Given the description of an element on the screen output the (x, y) to click on. 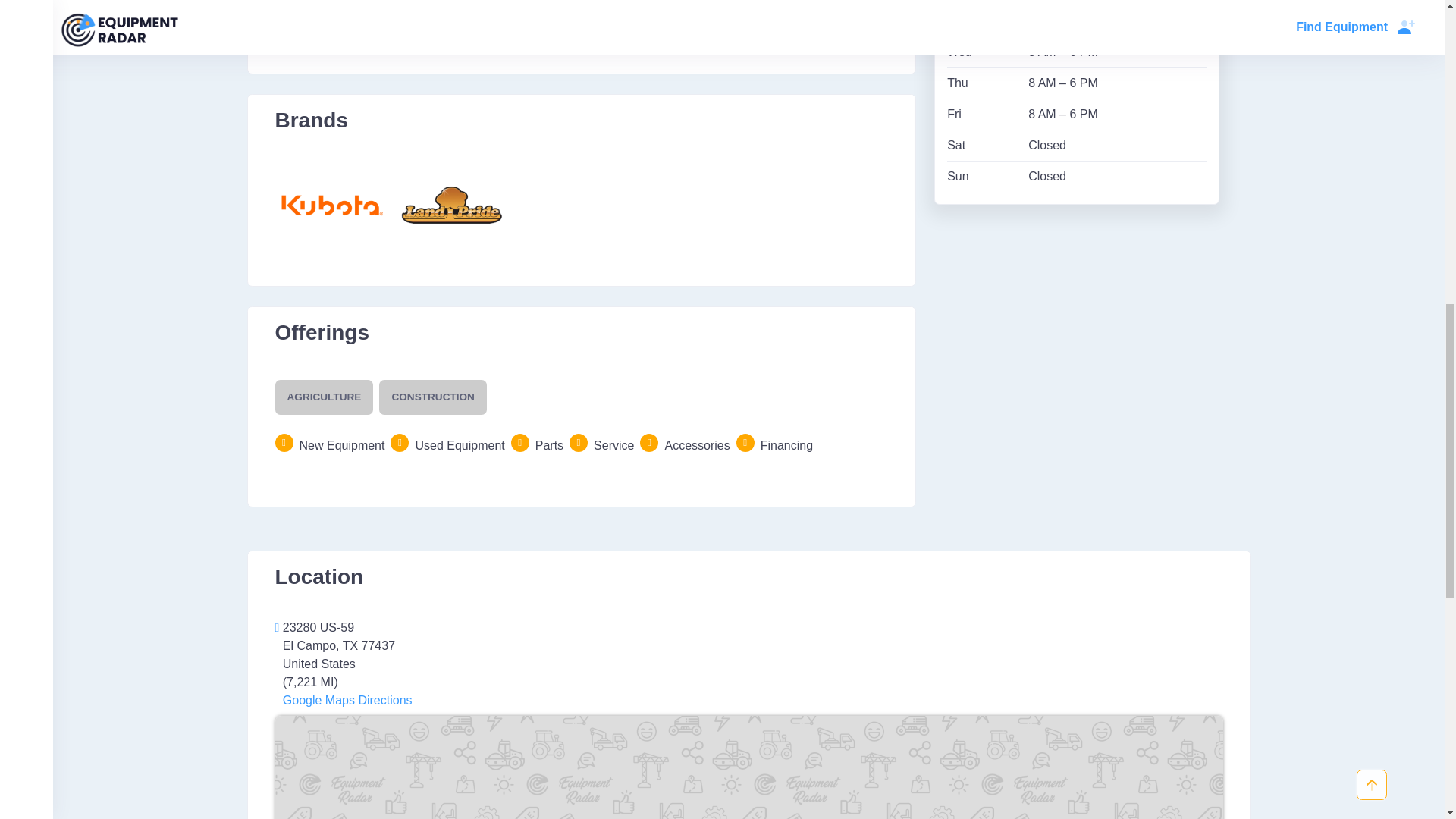
Land Pride (451, 205)
Google Maps Directions (345, 699)
Kubota (331, 205)
